Given the description of an element on the screen output the (x, y) to click on. 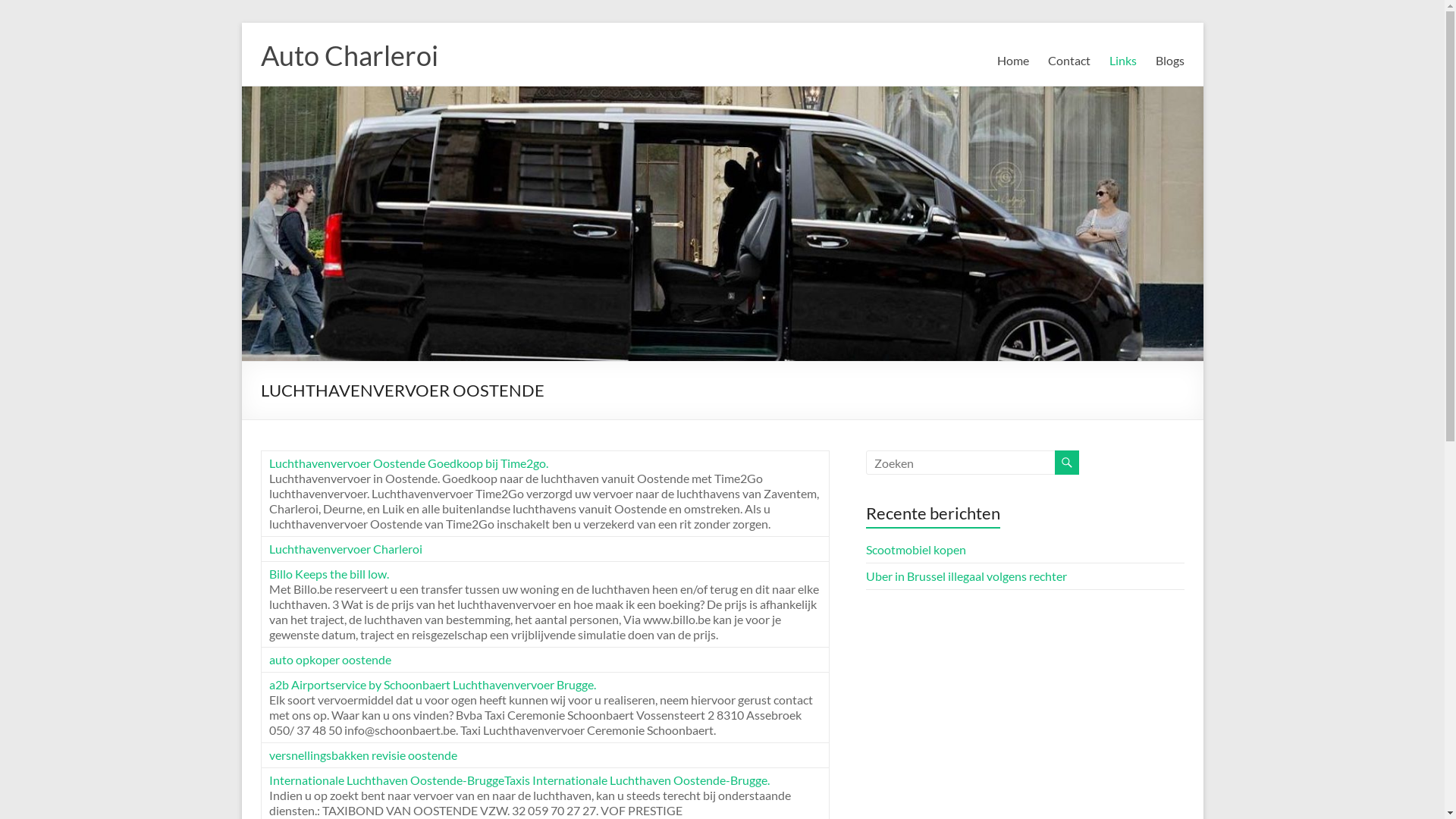
Billo Keeps the bill low. Element type: text (328, 573)
auto opkoper oostende Element type: text (329, 659)
Ga naar inhoud Element type: text (241, 21)
Scootmobiel kopen Element type: text (916, 549)
Blogs Element type: text (1169, 60)
Luchthavenvervoer Charleroi Element type: text (344, 548)
Links Element type: text (1121, 60)
Luchthavenvervoer Oostende Goedkoop bij Time2go. Element type: text (407, 462)
Uber in Brussel illegaal volgens rechter Element type: text (966, 575)
Auto Charleroi Element type: text (349, 55)
Contact Element type: text (1069, 60)
Home Element type: text (1012, 60)
a2b Airportservice by Schoonbaert Luchthavenvervoer Brugge. Element type: text (431, 684)
versnellingsbakken revisie oostende Element type: text (362, 754)
